Given the description of an element on the screen output the (x, y) to click on. 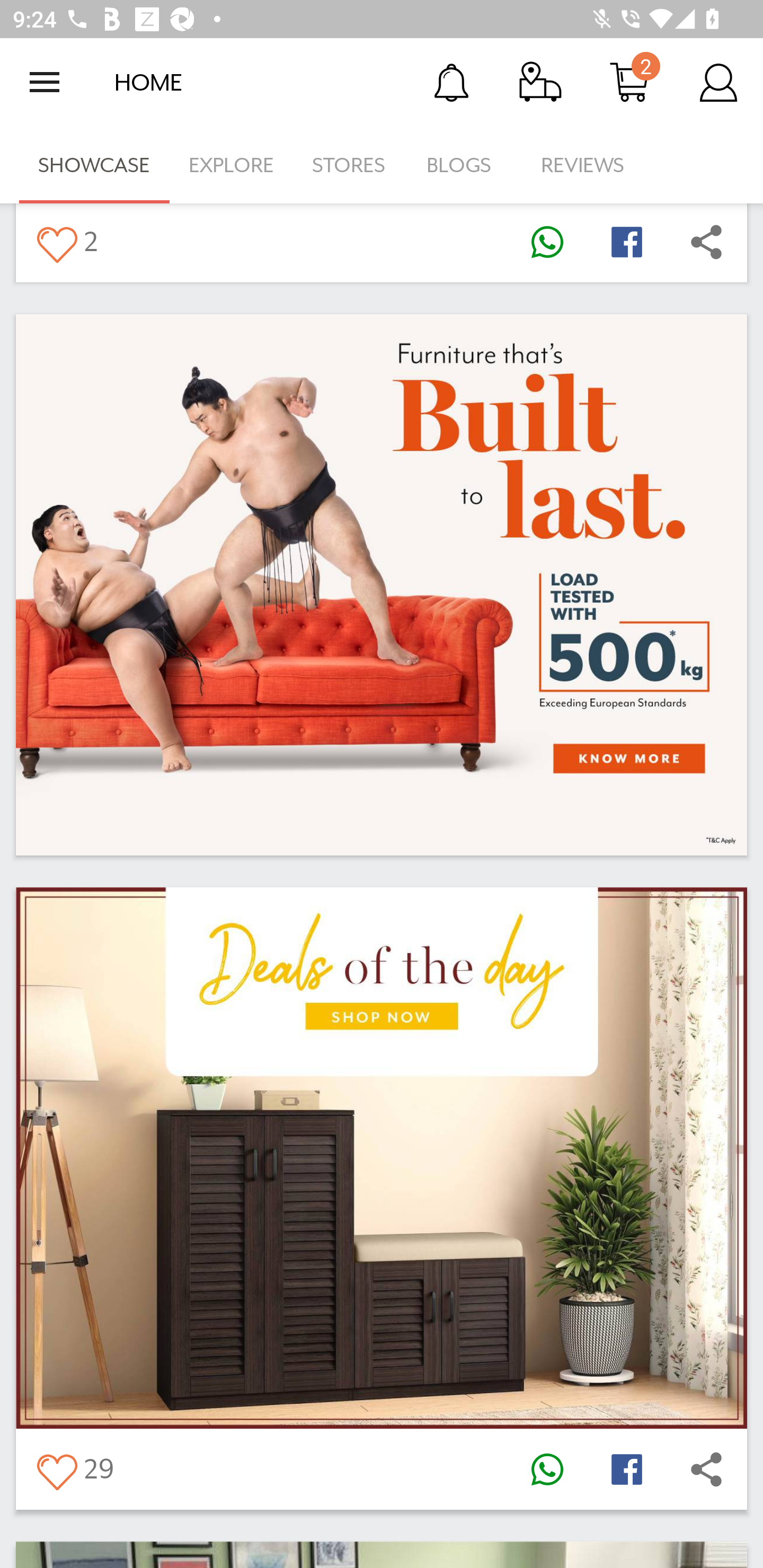
Open navigation drawer (44, 82)
Notification (450, 81)
Track Order (540, 81)
Cart (629, 81)
Account Details (718, 81)
SHOWCASE (94, 165)
EXPLORE (230, 165)
STORES (349, 165)
BLOGS (464, 165)
REVIEWS (582, 165)
 (55, 241)
 (547, 241)
 (626, 241)
 (706, 241)
 (55, 1468)
 (547, 1468)
 (626, 1468)
 (706, 1468)
